Given the description of an element on the screen output the (x, y) to click on. 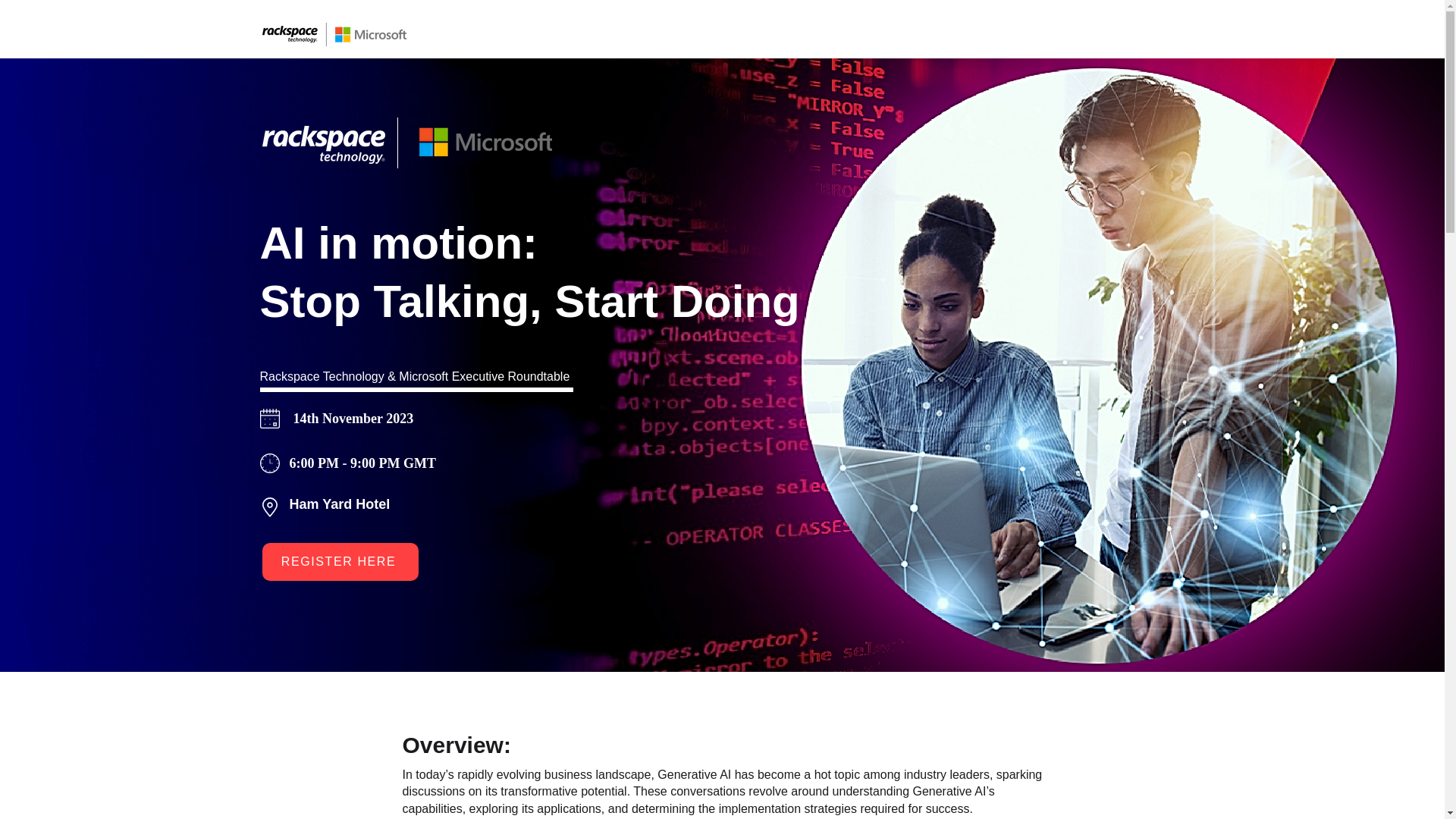
REGISTER HERE (340, 561)
